Given the description of an element on the screen output the (x, y) to click on. 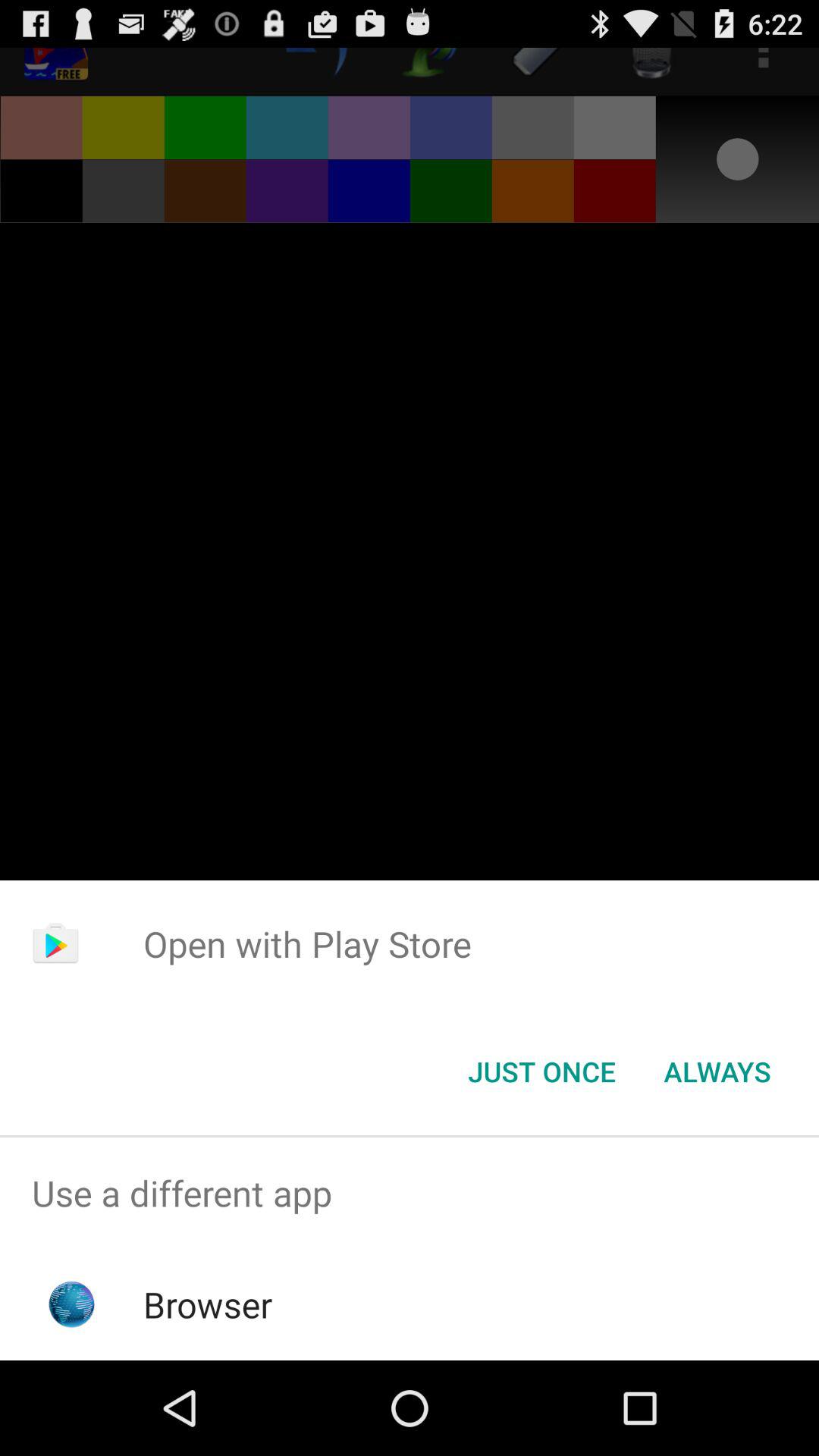
click button to the left of always icon (541, 1071)
